Given the description of an element on the screen output the (x, y) to click on. 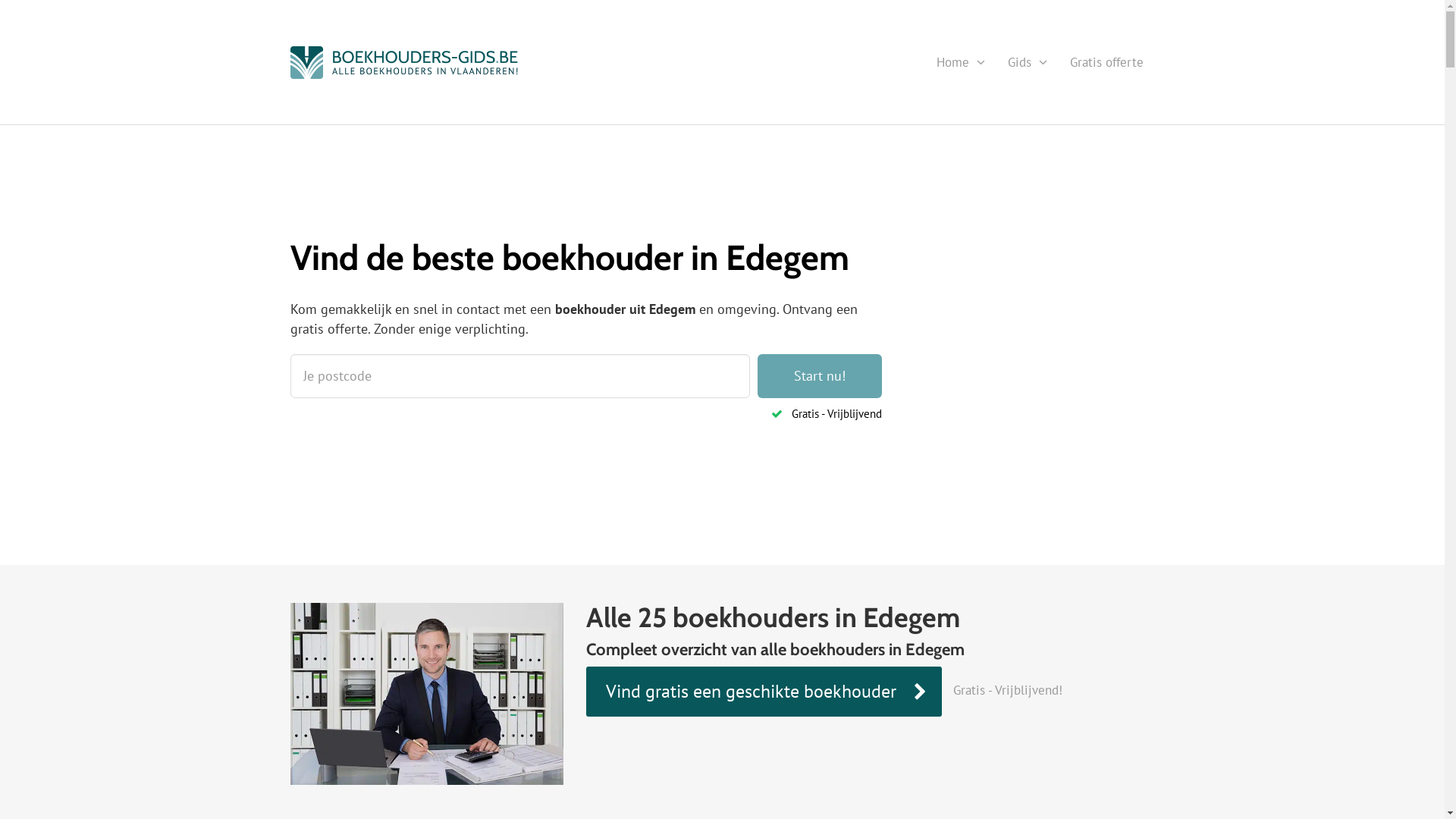
Start nu! Element type: text (818, 376)
Home Element type: text (960, 61)
Gids Element type: text (1027, 61)
Vind gratis een geschikte boekhouder Element type: text (763, 691)
Gratis offerte Element type: text (1106, 61)
